Given the description of an element on the screen output the (x, y) to click on. 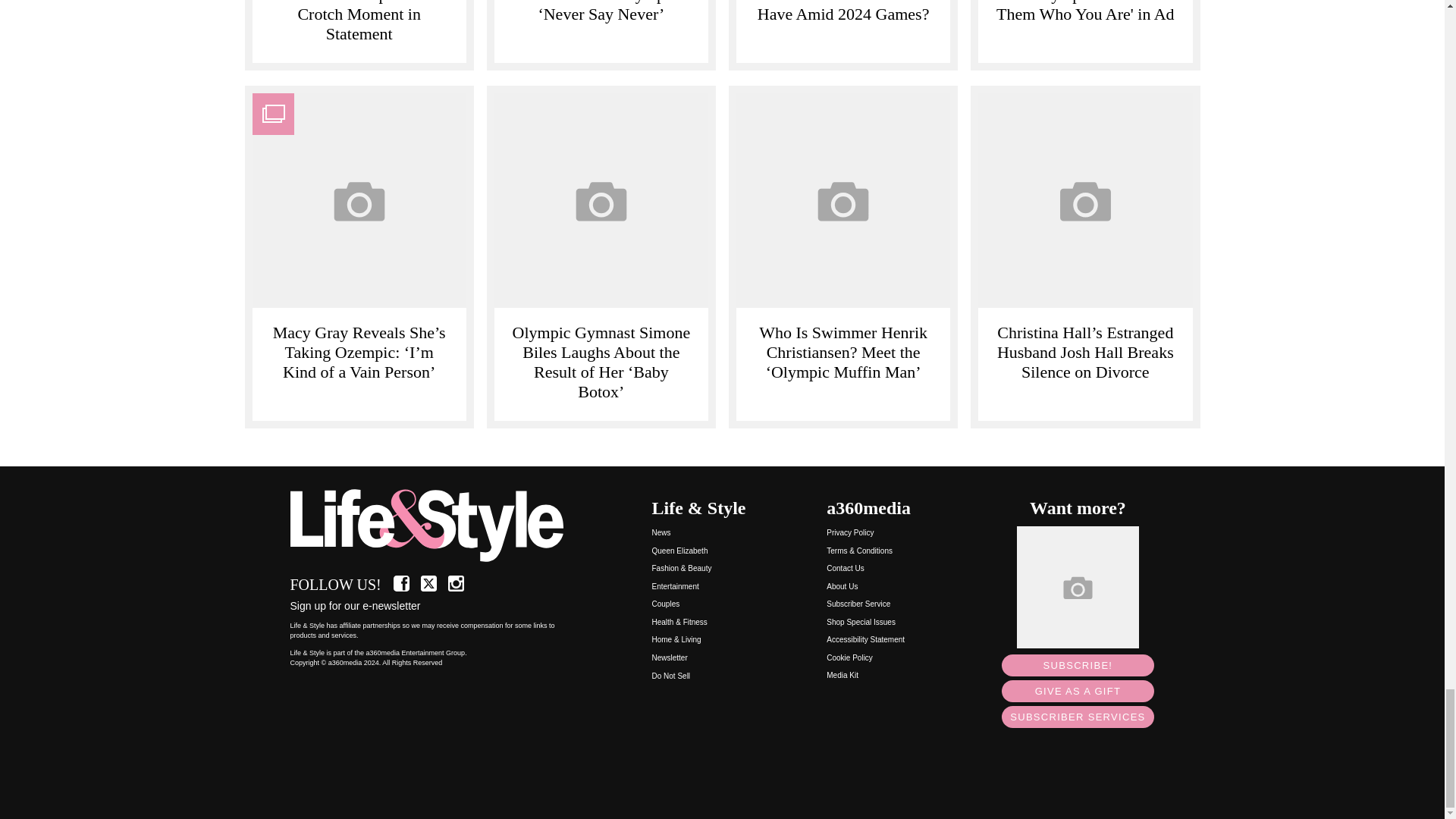
Home (434, 526)
